Given the description of an element on the screen output the (x, y) to click on. 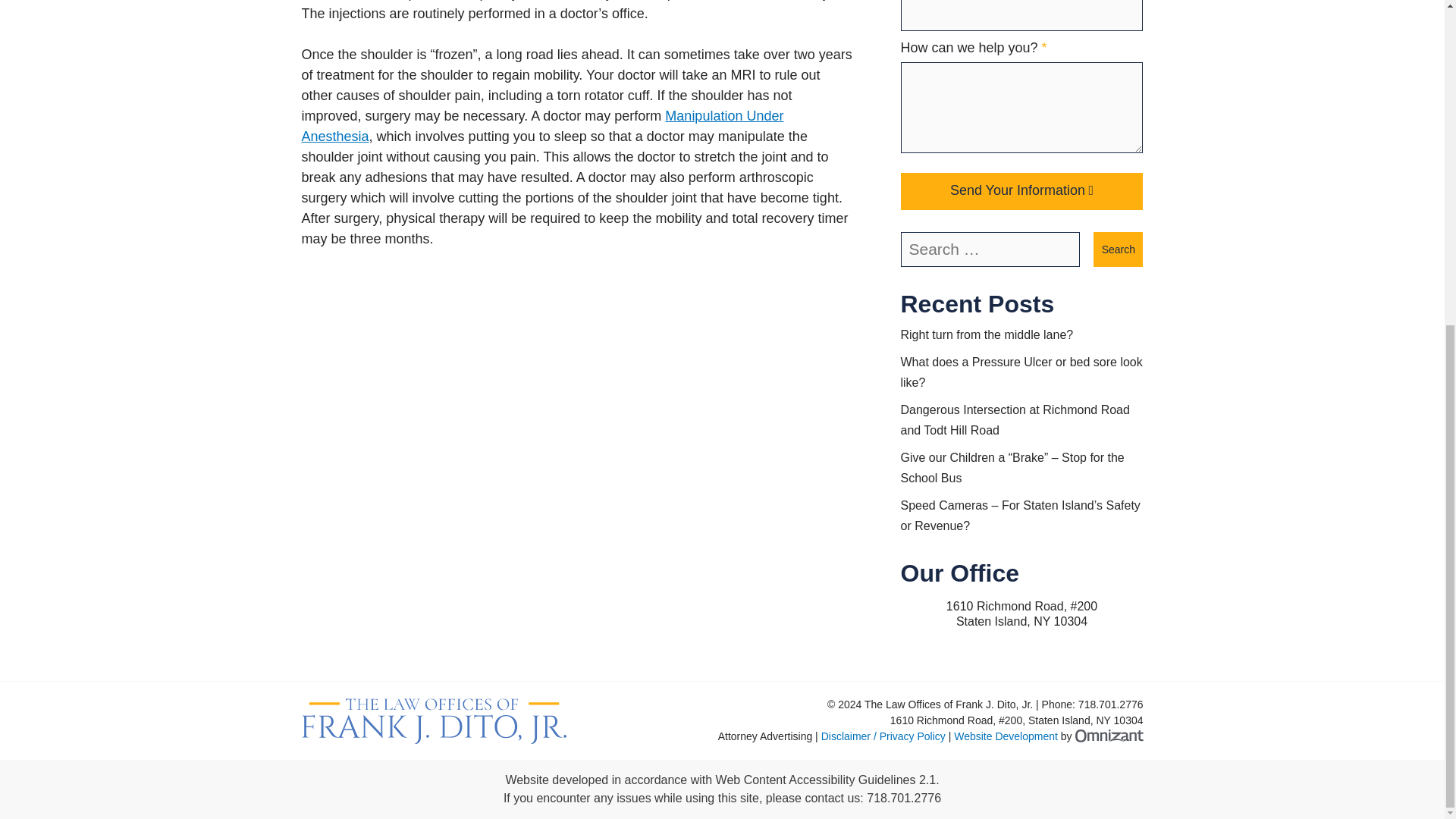
Search (1117, 248)
Manipulation Under Anesthesia (542, 126)
Search (1117, 248)
Send Your Information (1021, 190)
Search (1117, 248)
Right turn from the middle lane? (987, 334)
What does a Pressure Ulcer or bed sore look like? (1021, 372)
Search for: (990, 248)
Dangerous Intersection at Richmond Road and Todt Hill Road (1015, 419)
